Given the description of an element on the screen output the (x, y) to click on. 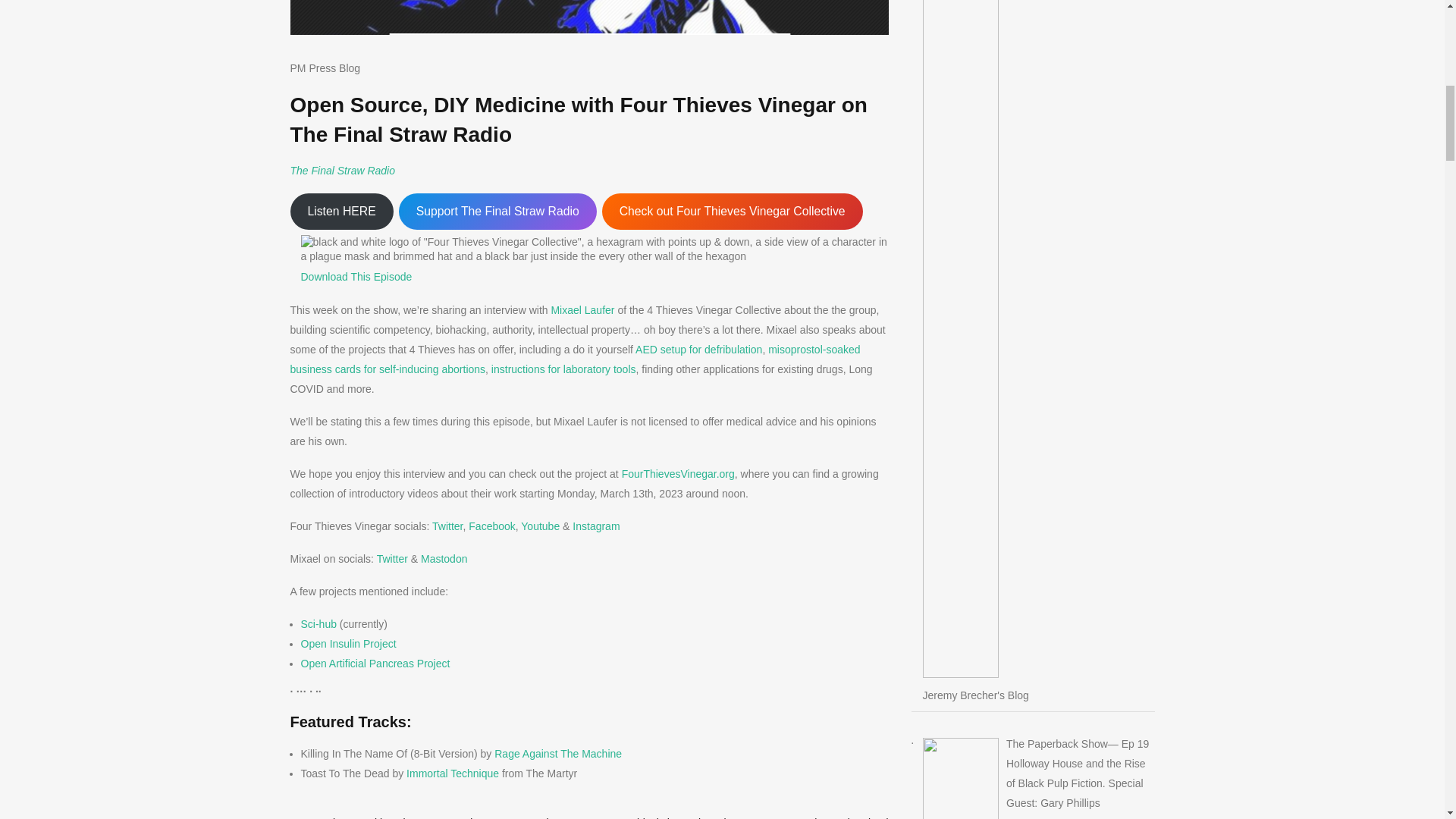
Immortal Technique (452, 773)
PM Press Blog (324, 68)
Facebook (491, 526)
The Final Straw Radio (341, 170)
Open Insulin Project (347, 644)
Mixael Laufer (582, 309)
Twitter (447, 526)
Twitter (392, 558)
